Given the description of an element on the screen output the (x, y) to click on. 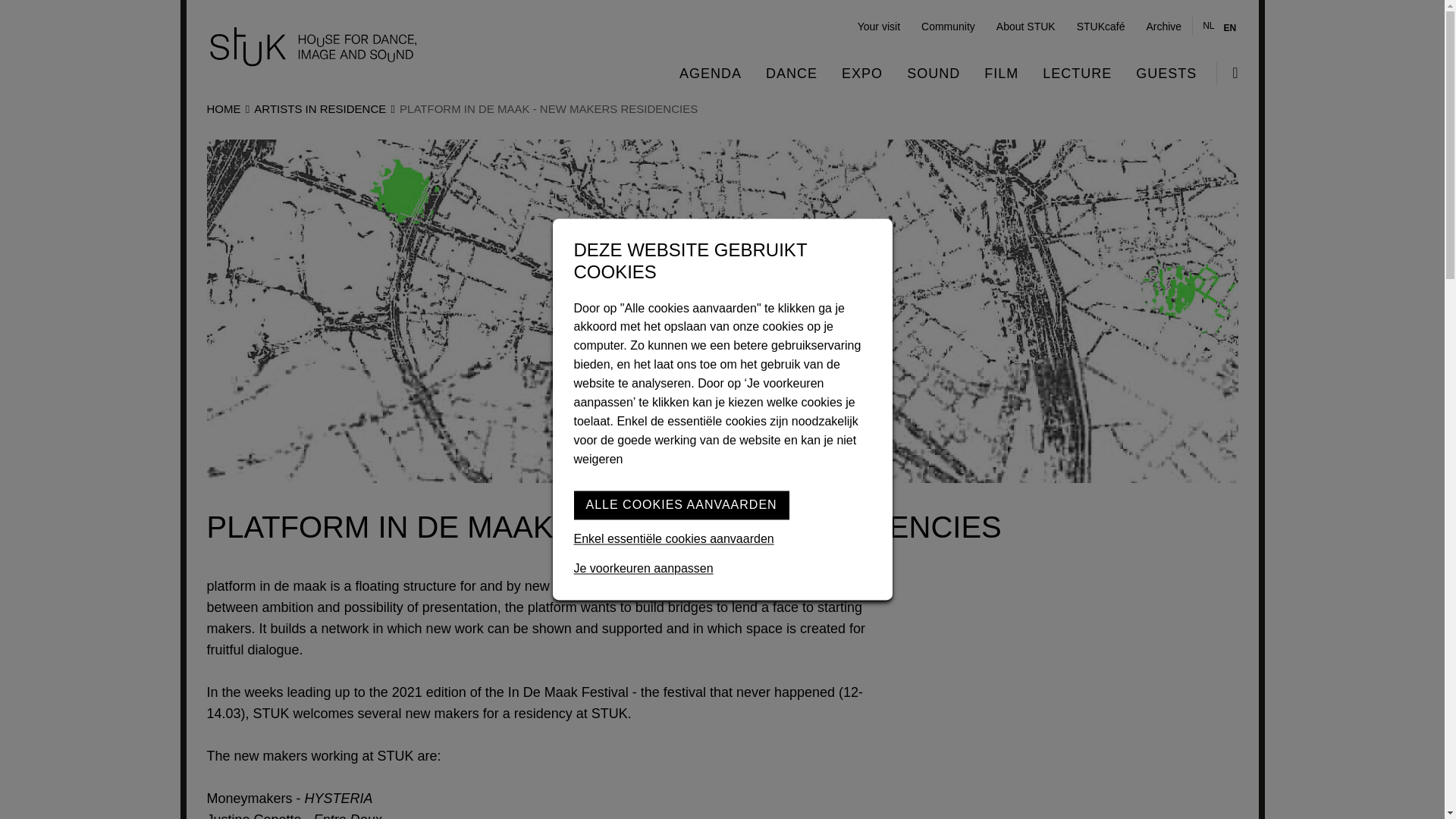
About STUK (1025, 26)
Je voorkeuren aanpassen (721, 569)
EN (1230, 27)
Search (1226, 73)
Archive (1162, 26)
SOUND (933, 73)
Community (948, 26)
GUESTS (1165, 73)
Your visit (878, 26)
LECTURE (1077, 73)
